Given the description of an element on the screen output the (x, y) to click on. 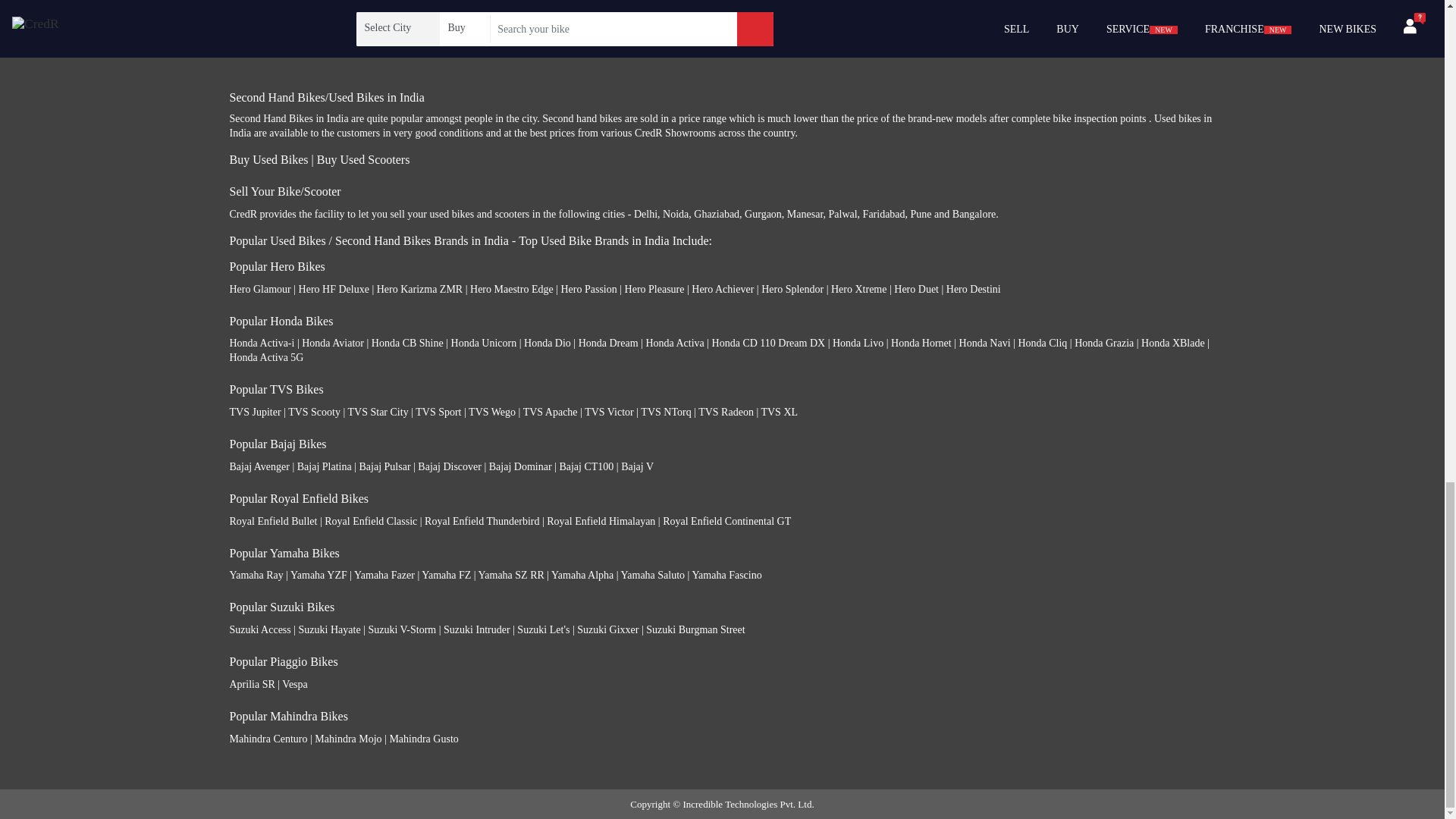
Popular Hero Bikes (276, 266)
Hero Maestro Edge (511, 288)
Buy Used Scooters (363, 159)
Hero (238, 12)
888 488 5455 (509, 21)
KTM (239, 51)
Royal Enfield (255, 31)
Buy Used Bikes (267, 159)
Hero Achiever (722, 288)
Hero Glamour (258, 288)
Hero HF Deluxe (333, 288)
Hero Xtreme (858, 288)
Hero Splendor (792, 288)
Hero Passion (587, 288)
Hero Pleasure (654, 288)
